Given the description of an element on the screen output the (x, y) to click on. 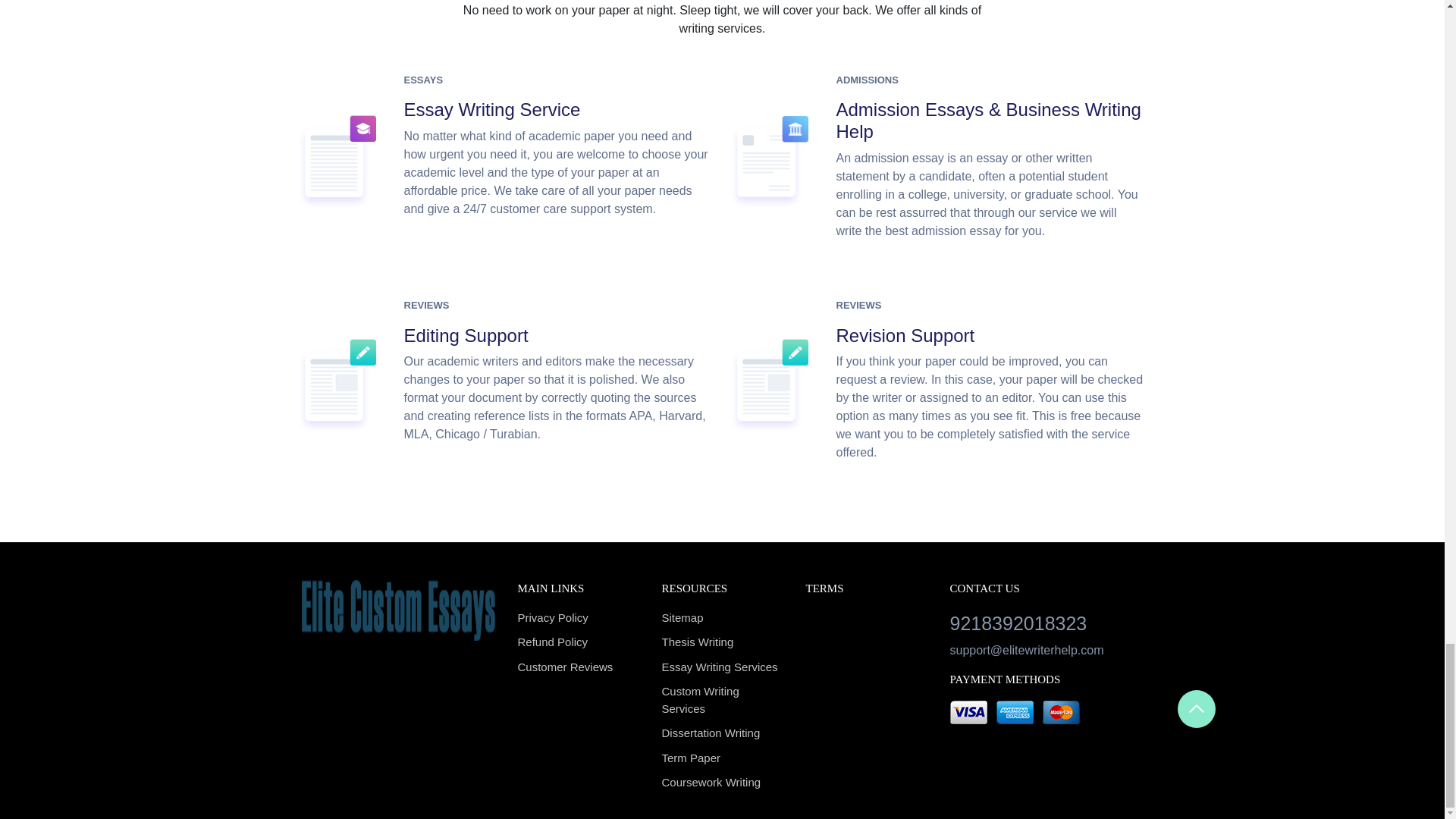
Sitemap (722, 618)
Dissertation Writing (722, 733)
Custom Writing Services (722, 700)
Coursework Writing (722, 782)
Term Paper (722, 758)
Refund Policy (577, 642)
9218392018323 (1045, 623)
Essay Writing Services (722, 667)
Thesis Writing (722, 642)
Privacy Policy (577, 618)
